Given the description of an element on the screen output the (x, y) to click on. 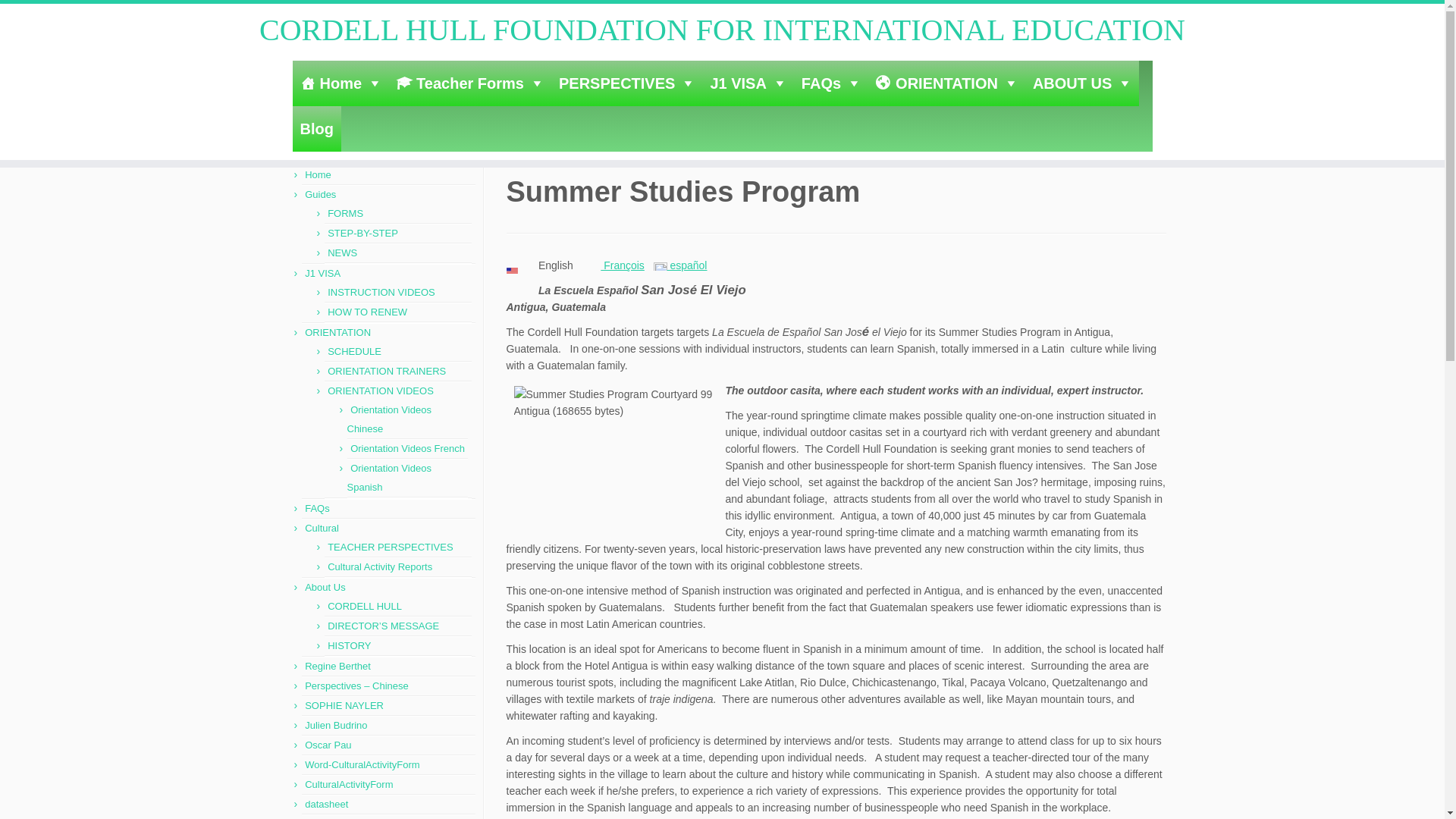
ABOUT US (1081, 83)
FORMS (344, 213)
ORIENTATION VIDEOS (380, 390)
Home (317, 174)
FAQs (830, 83)
PERSPECTIVES (626, 83)
ORIENTATION TRAINERS (386, 370)
Home (293, 149)
Blog (316, 128)
J1 VISA (747, 83)
Guides (320, 194)
STEP-BY-STEP (362, 233)
Teacher Forms (469, 83)
HOW TO RENEW (367, 311)
CORDELL HULL FOUNDATION FOR INTERNATIONAL EDUCATION (293, 149)
